Given the description of an element on the screen output the (x, y) to click on. 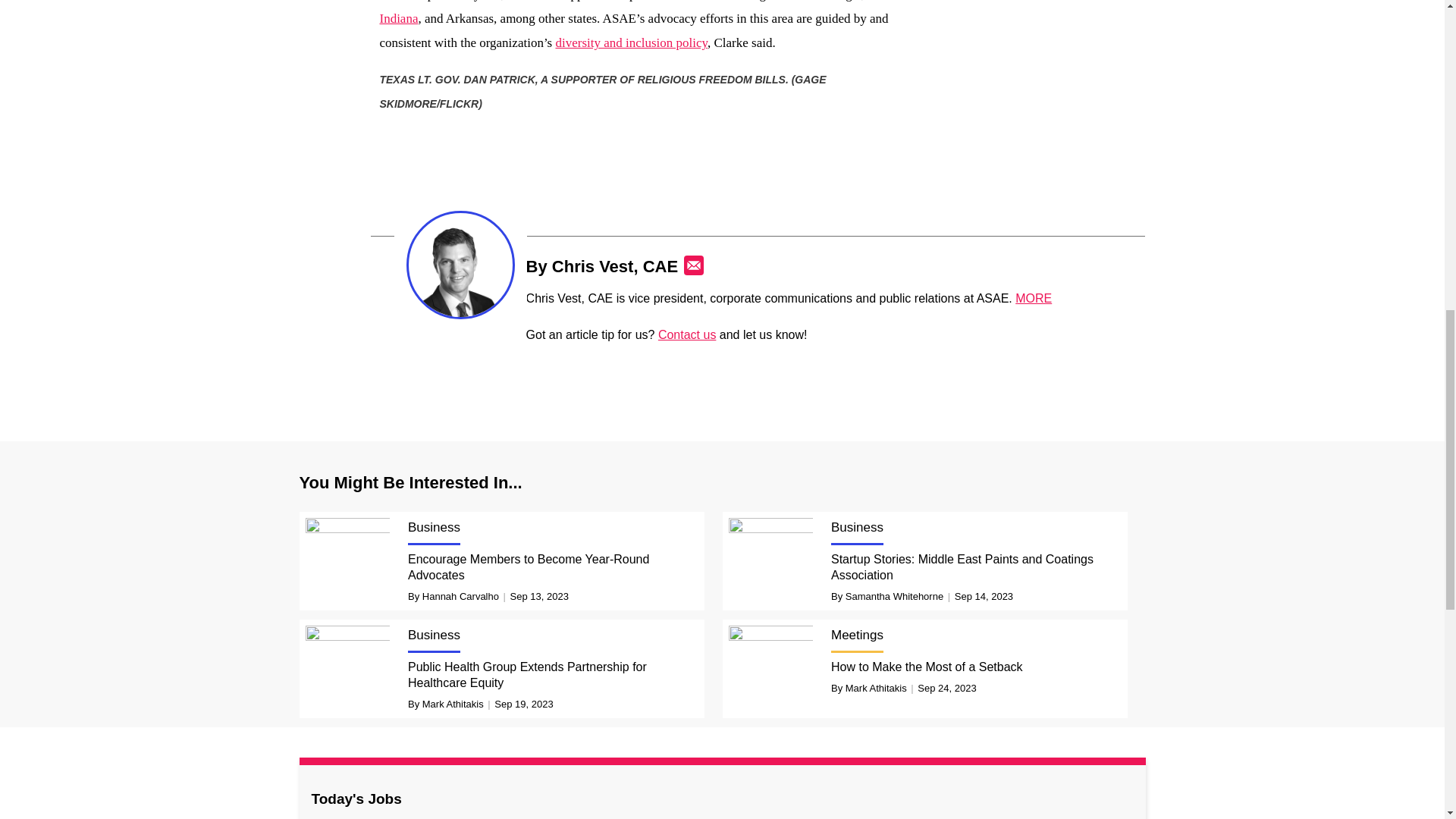
Mail (693, 265)
MORE (1032, 297)
Contact us (687, 334)
Indiana (397, 18)
Email (693, 265)
diversity and inclusion policy (630, 42)
